Given the description of an element on the screen output the (x, y) to click on. 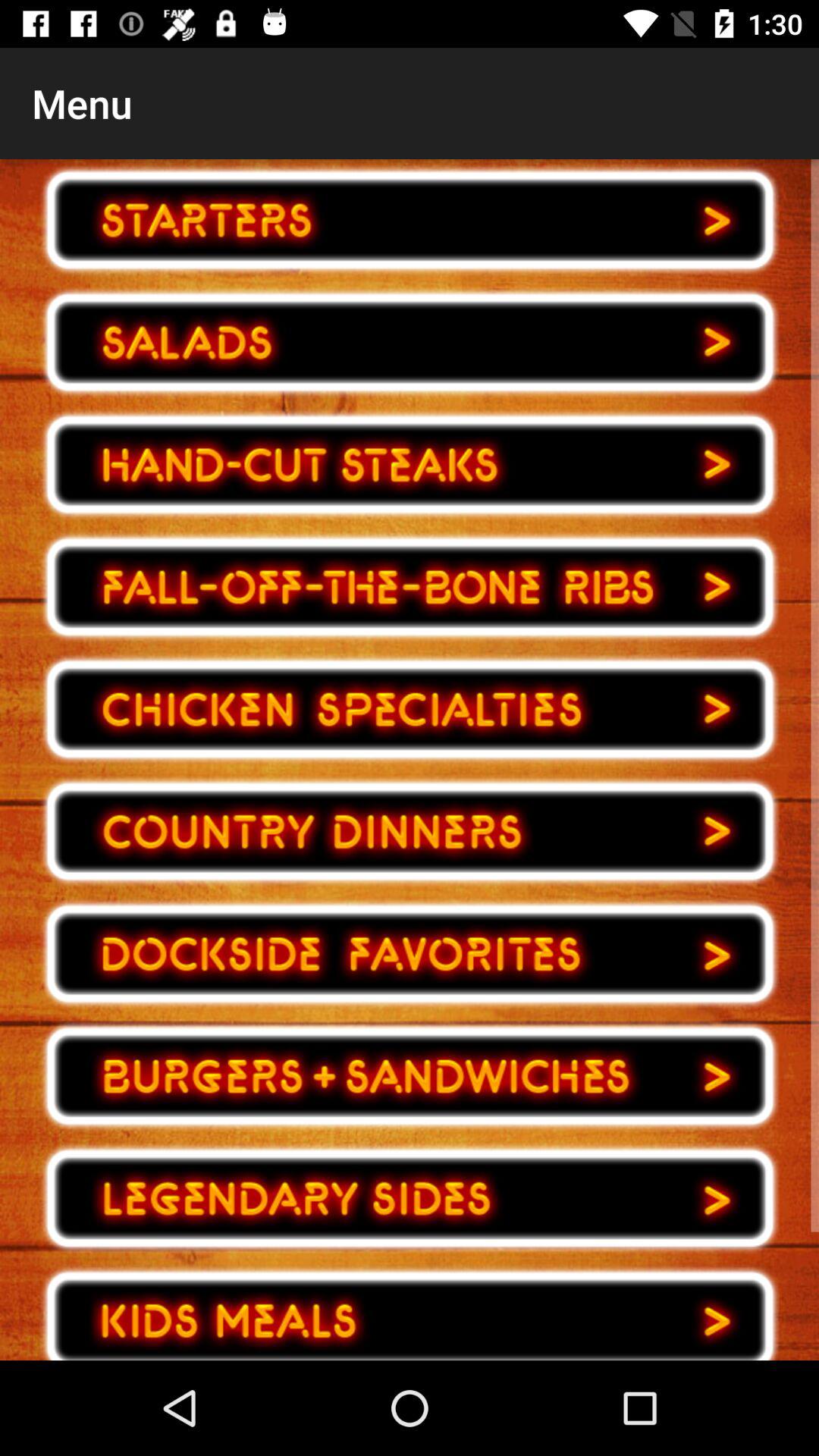
the button is to select items in a menu (409, 587)
